Given the description of an element on the screen output the (x, y) to click on. 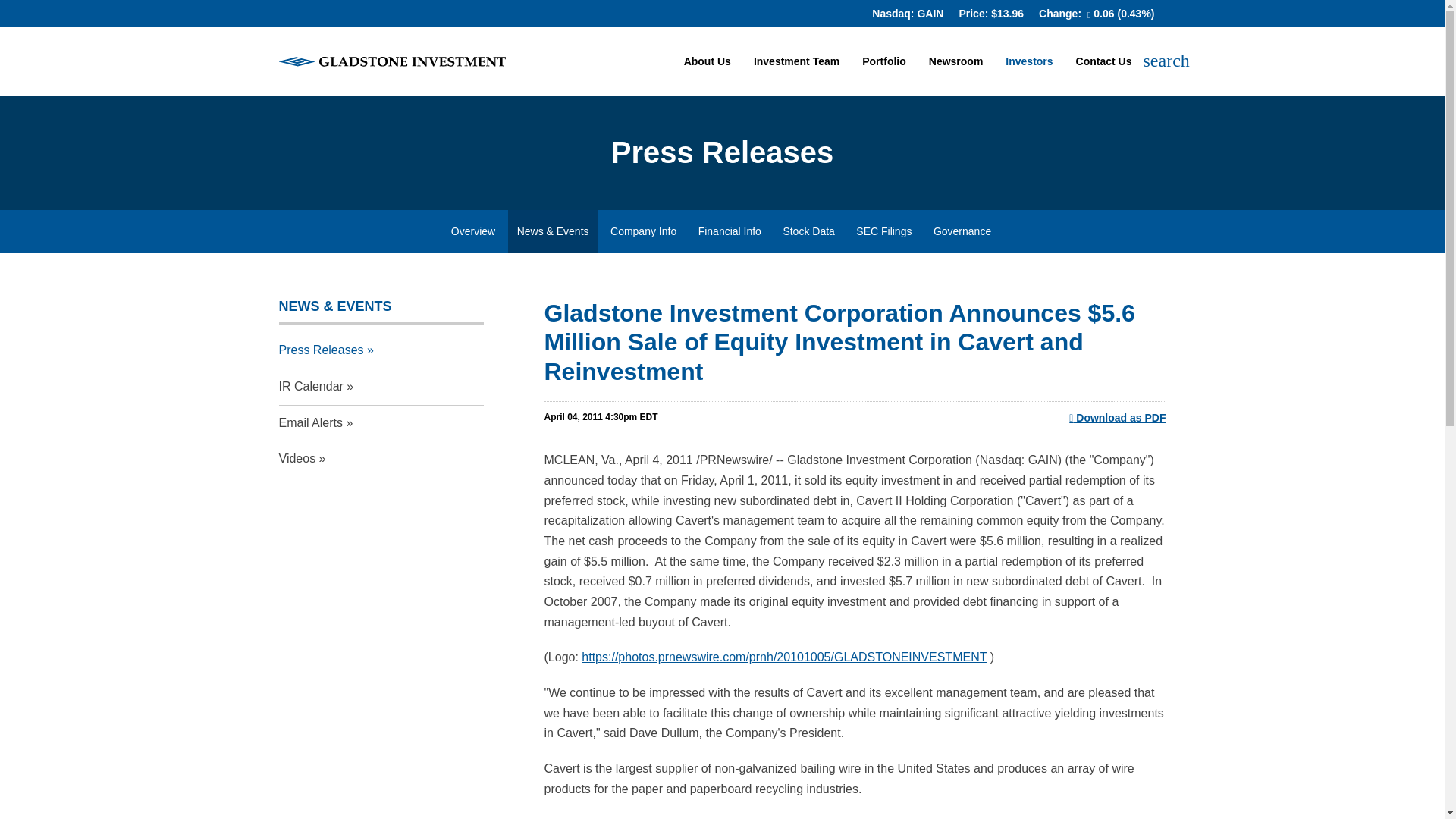
Overview (472, 231)
Newsroom (955, 74)
Company Info (643, 231)
Stock Data (808, 231)
Investment Team (796, 74)
About Us (707, 74)
Financial Info (729, 231)
Investors (1029, 74)
Contact Us (1103, 74)
Portfolio (883, 74)
